Given the description of an element on the screen output the (x, y) to click on. 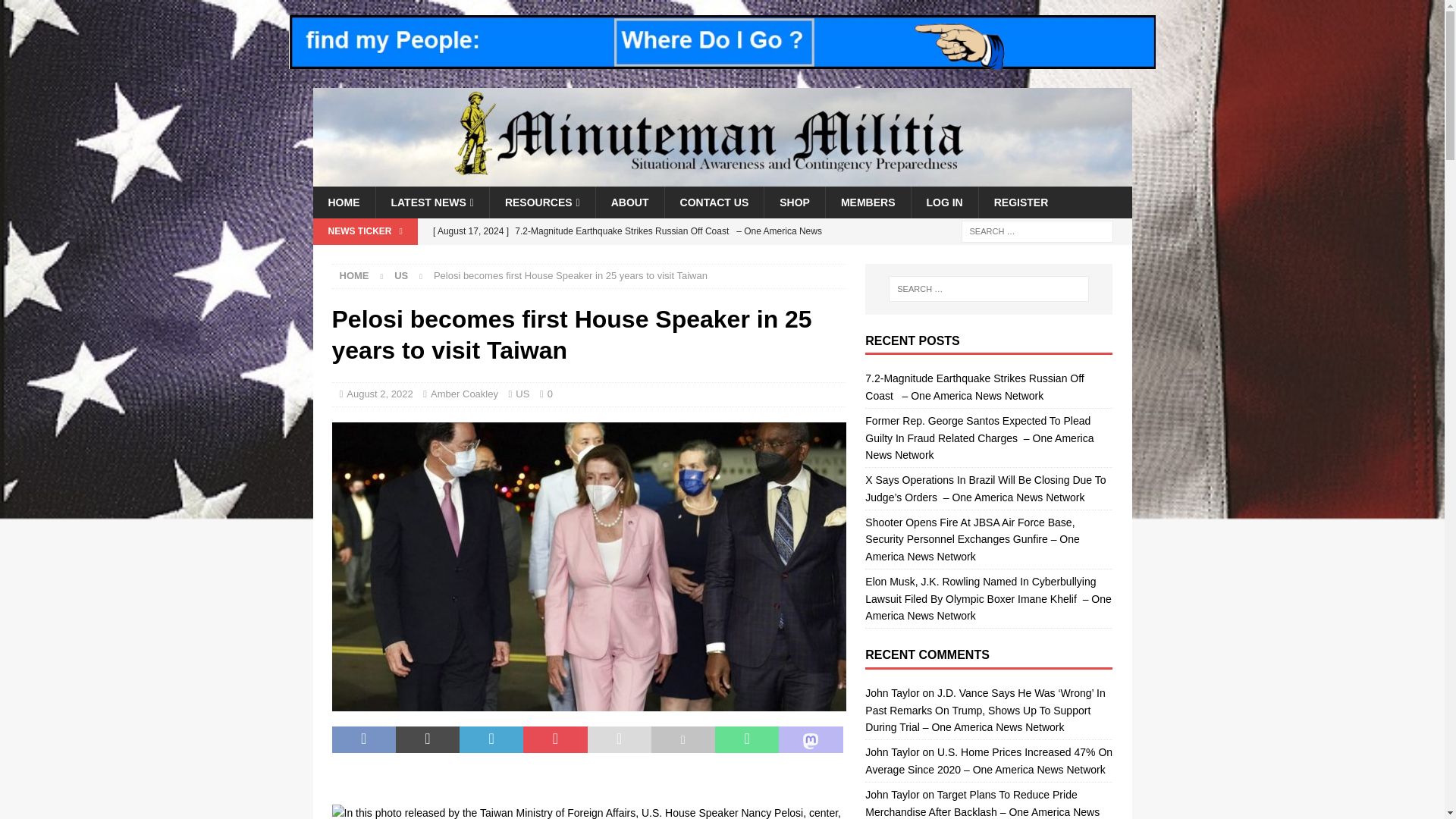
RESOURCES (542, 202)
MEMBERS (868, 202)
SHOP (793, 202)
Minuteman Militia (722, 177)
US (400, 275)
LOG IN (943, 202)
ABOUT (629, 202)
Home (354, 275)
August 2, 2022 (379, 393)
